Given the description of an element on the screen output the (x, y) to click on. 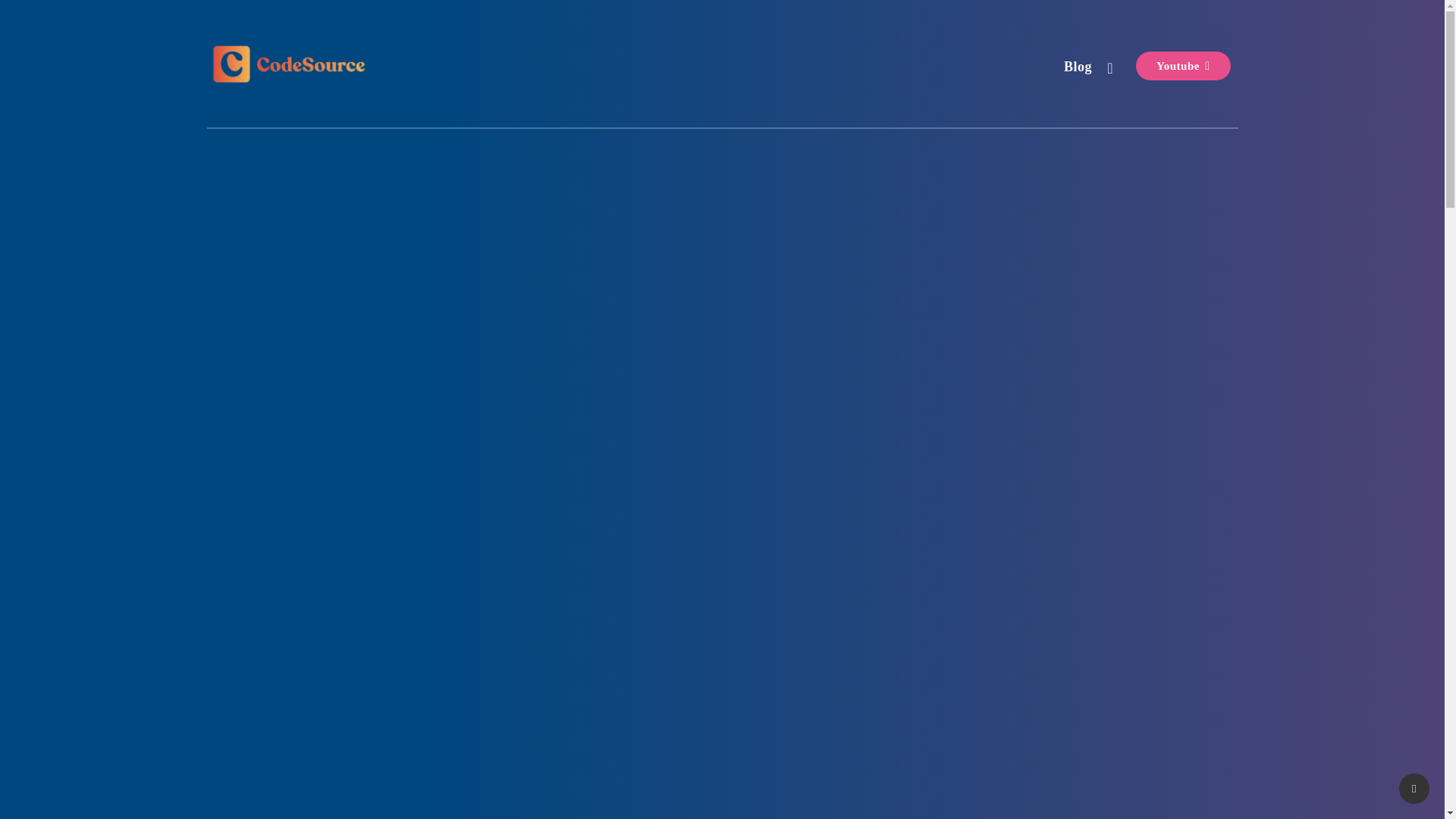
Sign Up Now (1082, 591)
Blog (1078, 68)
Youtube (1182, 65)
